Given the description of an element on the screen output the (x, y) to click on. 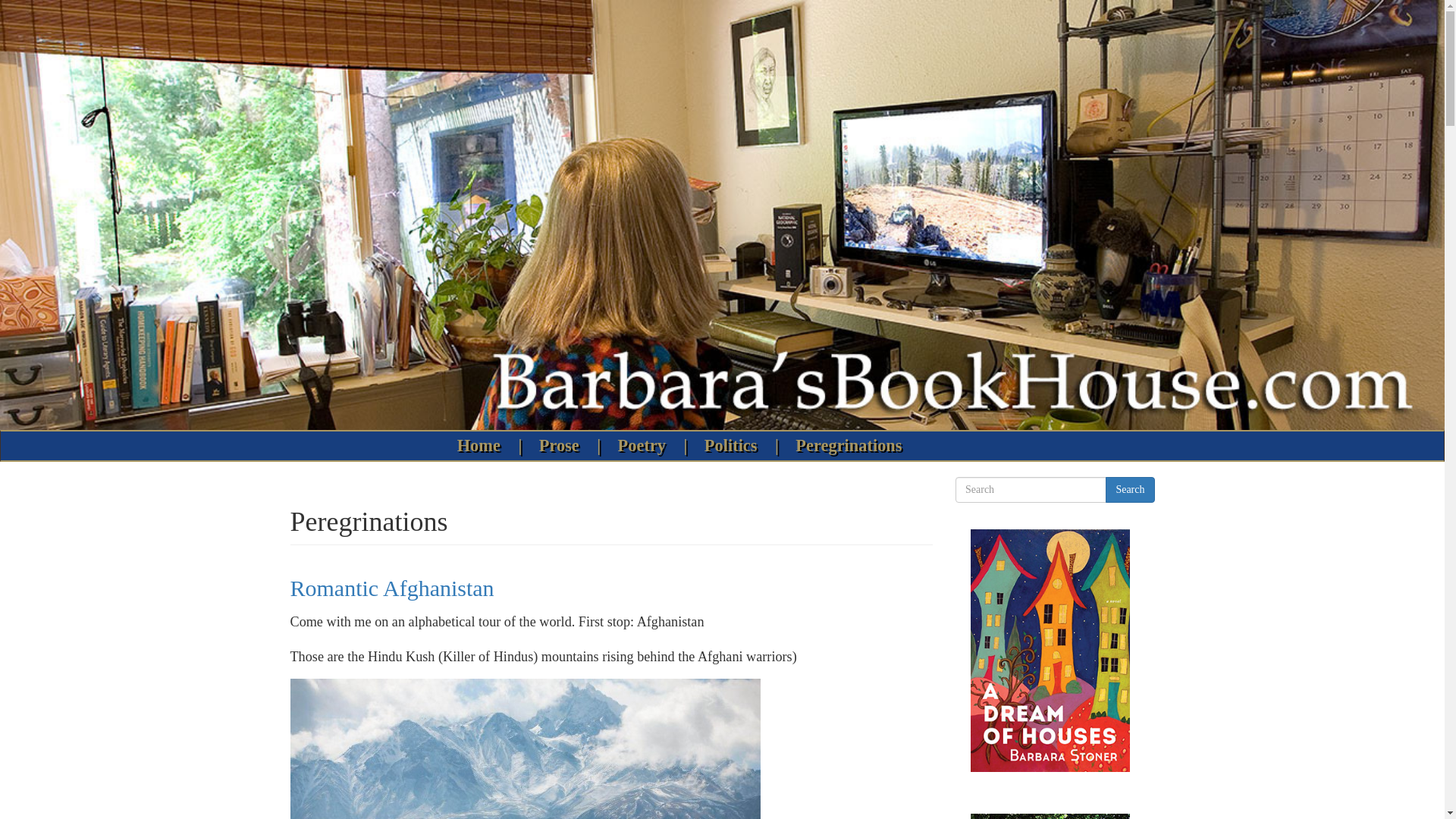
Politics (734, 445)
Peregrinations (848, 445)
Prose (563, 445)
Home (481, 445)
Poetry (645, 445)
Romantic Afghanistan (391, 587)
